Given the description of an element on the screen output the (x, y) to click on. 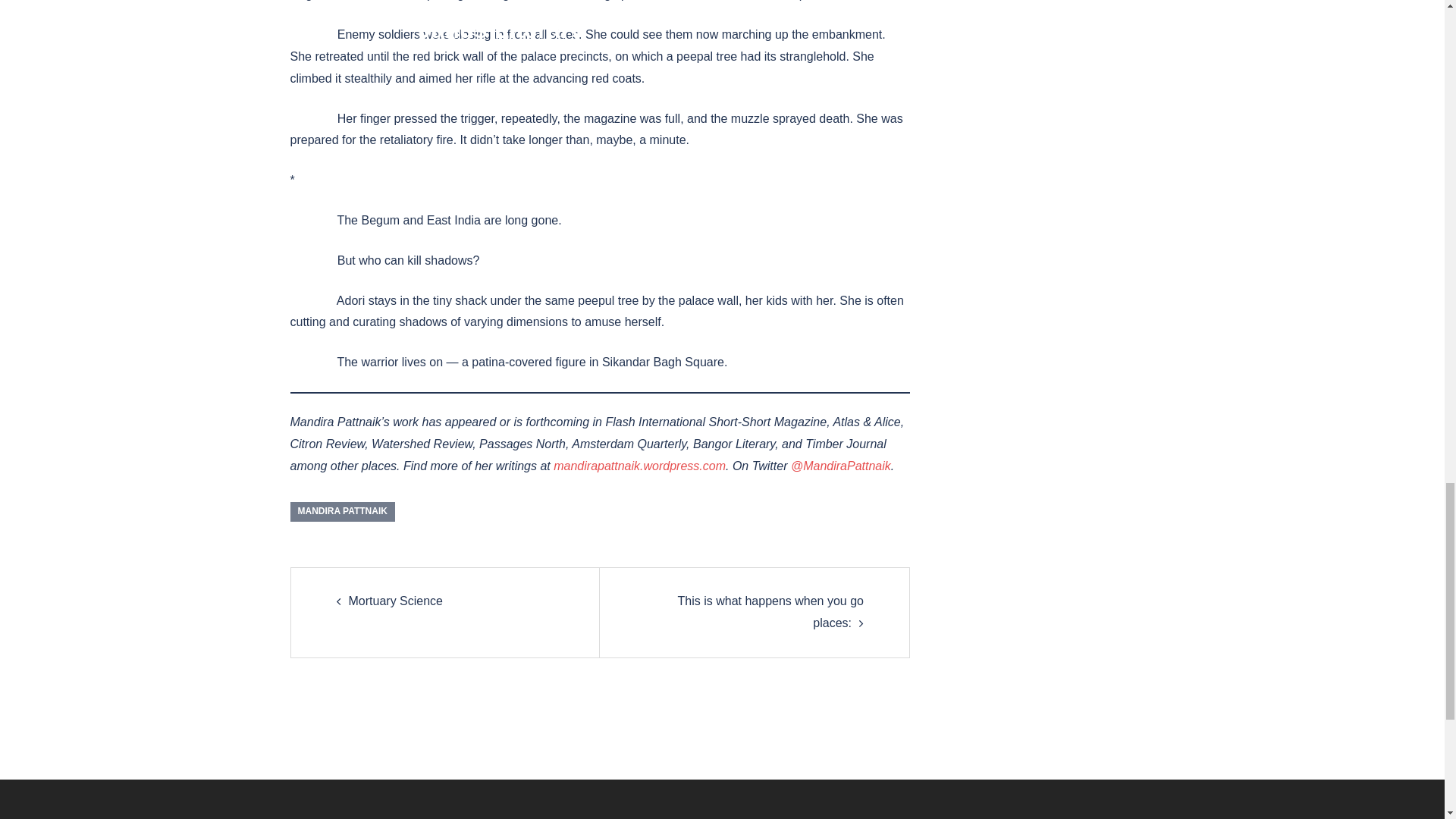
MANDIRA PATTNAIK (341, 511)
This is what happens when you go places: (770, 611)
mandirapattnaik.wordpress.com (639, 465)
Mortuary Science (396, 600)
